Given the description of an element on the screen output the (x, y) to click on. 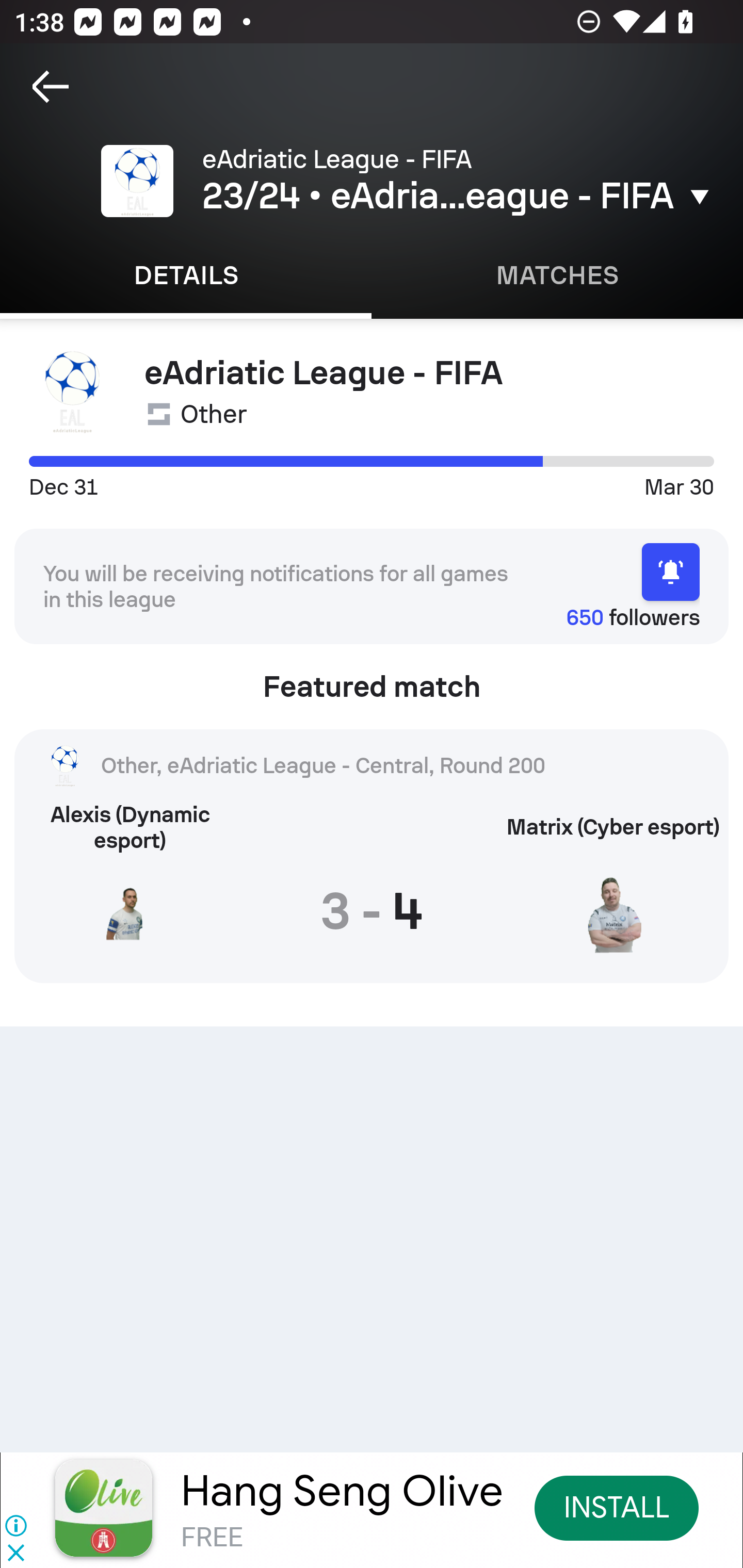
Navigate up (50, 86)
23/24 • eAdriatic League - FIFA (458, 195)
Matches MATCHES (557, 275)
Hang Seng Olive (341, 1490)
INSTALL (615, 1507)
FREE (211, 1537)
